Given the description of an element on the screen output the (x, y) to click on. 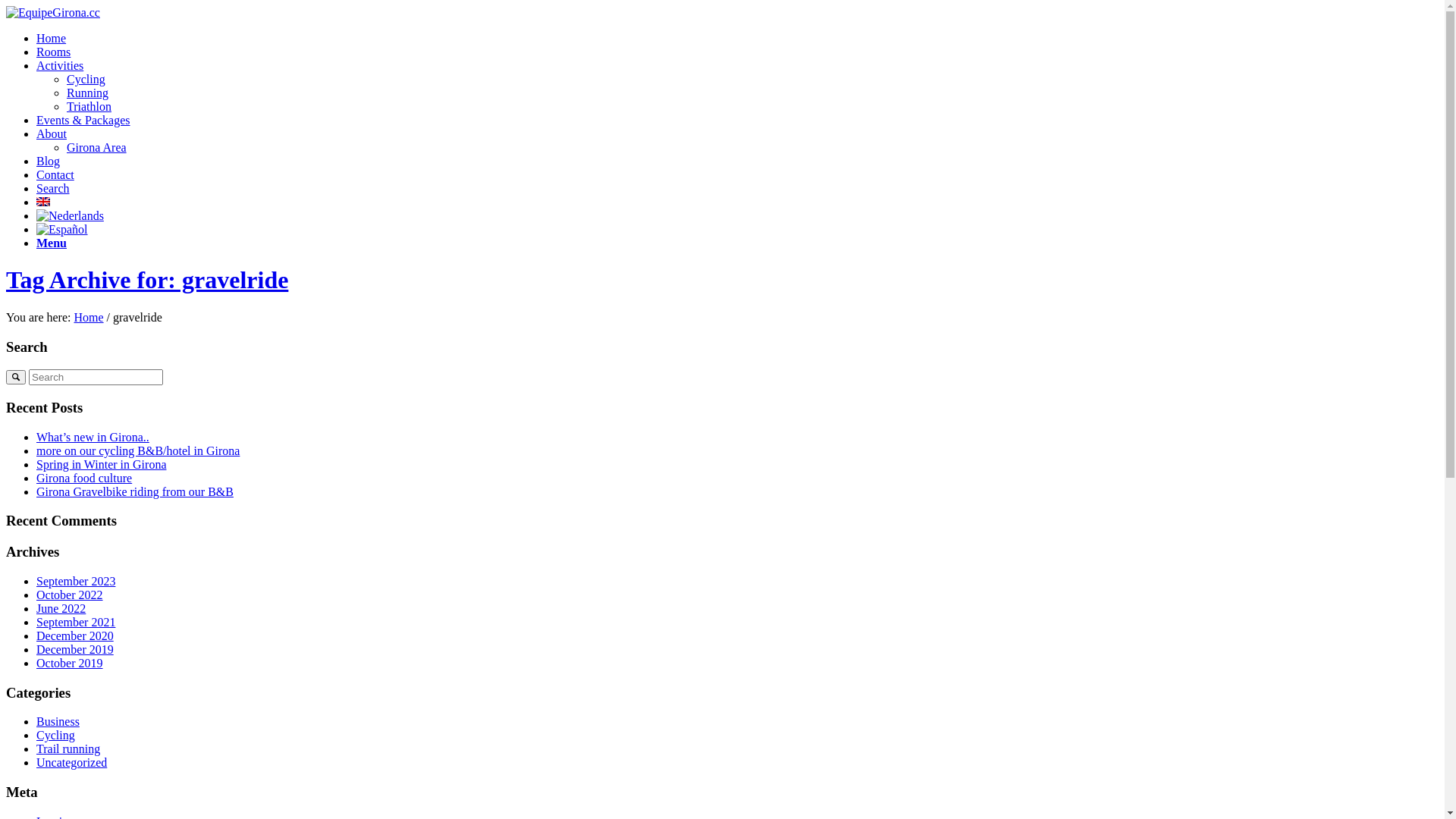
Business Element type: text (57, 721)
English Element type: hover (43, 201)
October 2019 Element type: text (69, 662)
Cycling Element type: text (55, 734)
September 2021 Element type: text (75, 621)
more on our cycling B&B/hotel in Girona Element type: text (137, 450)
September 2023 Element type: text (75, 580)
December 2020 Element type: text (74, 635)
June 2022 Element type: text (60, 608)
October 2022 Element type: text (69, 594)
Home Element type: text (50, 37)
Home Element type: text (88, 316)
Activities Element type: text (59, 65)
Triathlon Element type: text (88, 106)
Events & Packages Element type: text (83, 119)
Search Element type: text (52, 188)
Running Element type: text (87, 92)
December 2019 Element type: text (74, 649)
Nederlands Element type: hover (69, 215)
Girona food culture Element type: text (83, 477)
Menu Element type: text (51, 242)
Spring in Winter in Girona Element type: text (101, 464)
Cycling Element type: text (85, 78)
Trail running Element type: text (68, 748)
Blog Element type: text (47, 160)
Tag Archive for: gravelride Element type: text (147, 279)
Girona Area Element type: text (96, 147)
Girona Gravelbike riding from our B&B Element type: text (134, 491)
About Element type: text (51, 133)
Contact Element type: text (55, 174)
Rooms Element type: text (53, 51)
Uncategorized Element type: text (71, 762)
